Given the description of an element on the screen output the (x, y) to click on. 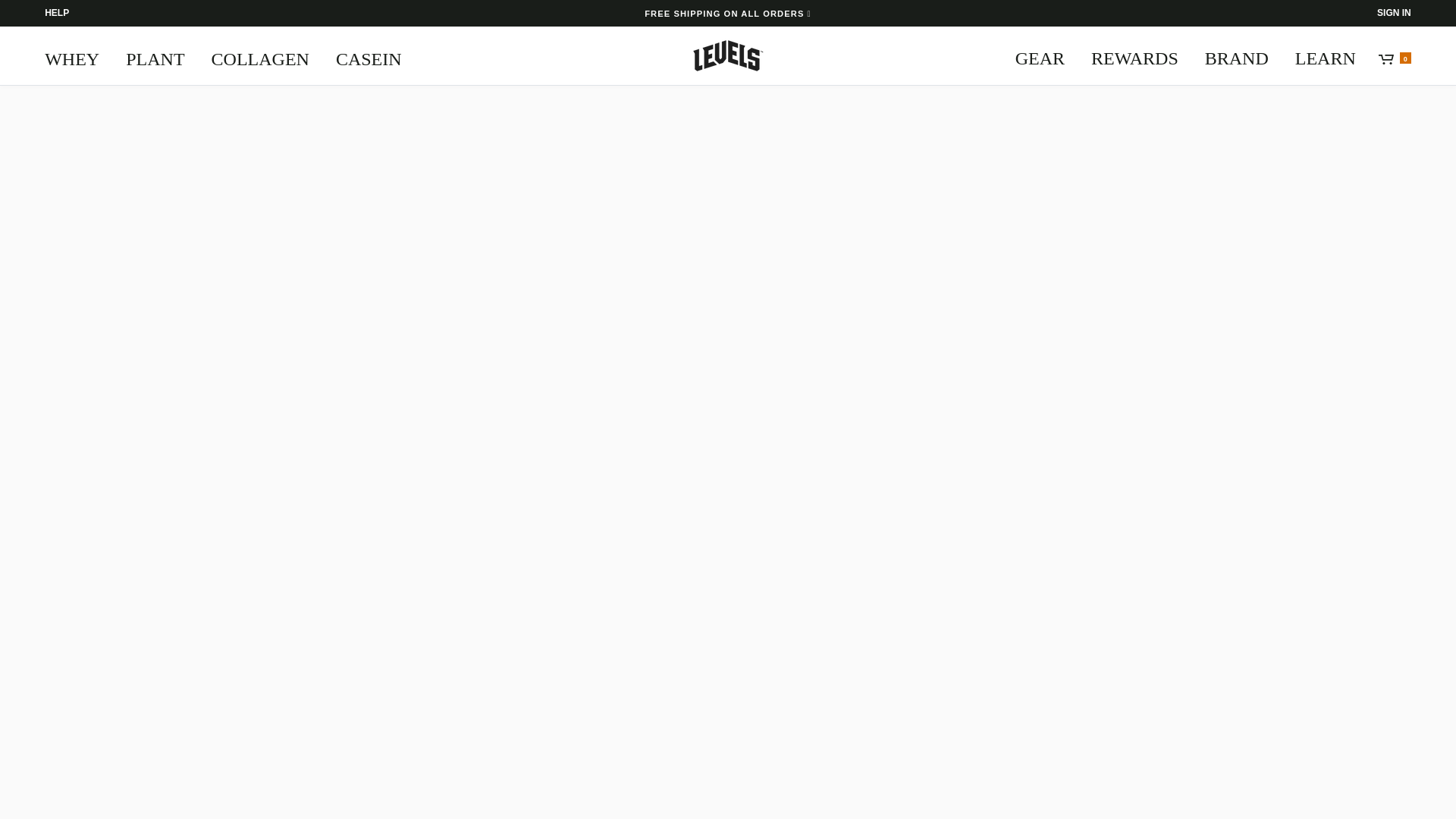
LEARN (1325, 54)
HELP (56, 12)
GEAR (1044, 54)
COLLAGEN (260, 55)
PLANT (155, 55)
REWARDS (1134, 54)
WHEY (77, 55)
SIGN IN (1393, 12)
CASEIN (368, 55)
Account (1393, 12)
BRAND (1236, 54)
